Given the description of an element on the screen output the (x, y) to click on. 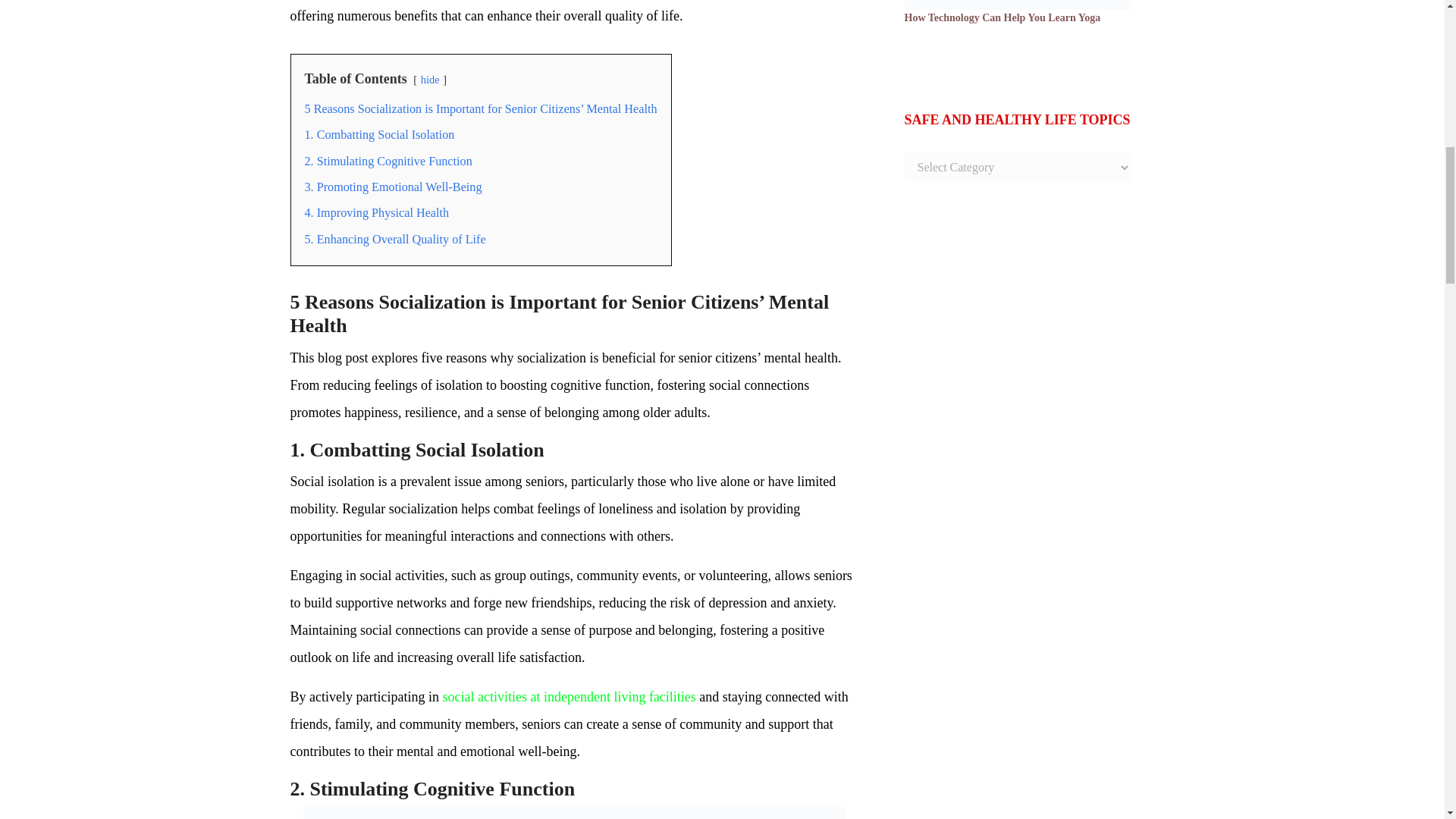
2. Stimulating Cognitive Function (387, 161)
3. Promoting Emotional Well-Being (392, 187)
social activities at independent living facilities (568, 696)
5. Enhancing Overall Quality of Life (395, 239)
1. Combatting Social Isolation (379, 134)
hide (429, 79)
4. Improving Physical Health (376, 213)
